Given the description of an element on the screen output the (x, y) to click on. 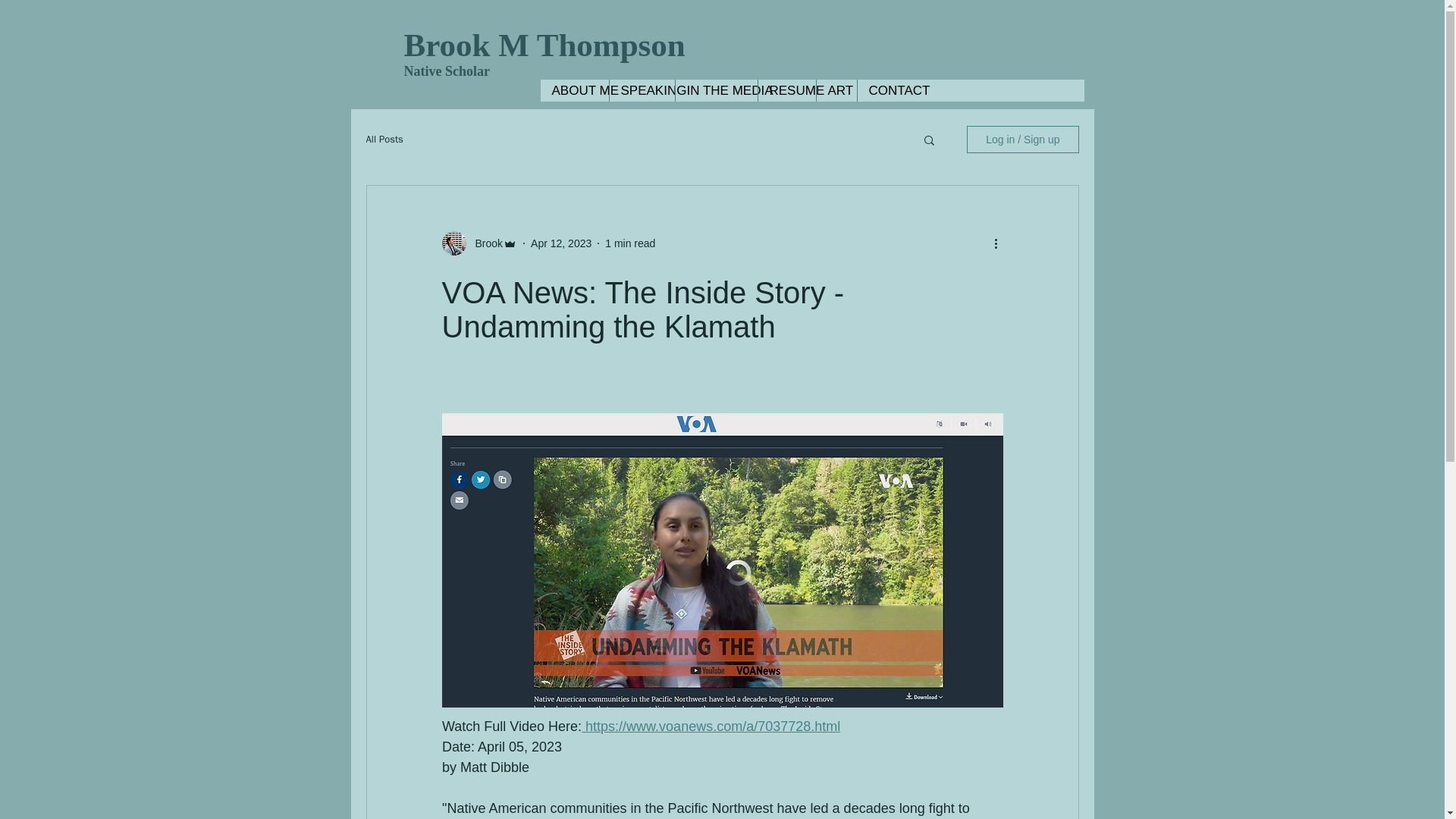
Brook M Thompson (543, 45)
1 min read (630, 242)
All Posts (384, 139)
SPEAKING (641, 90)
CONTACT (888, 90)
Native Scholar (446, 70)
ART (836, 90)
IN THE MEDIA (716, 90)
ABOUT ME (574, 90)
Apr 12, 2023 (561, 242)
